Given the description of an element on the screen output the (x, y) to click on. 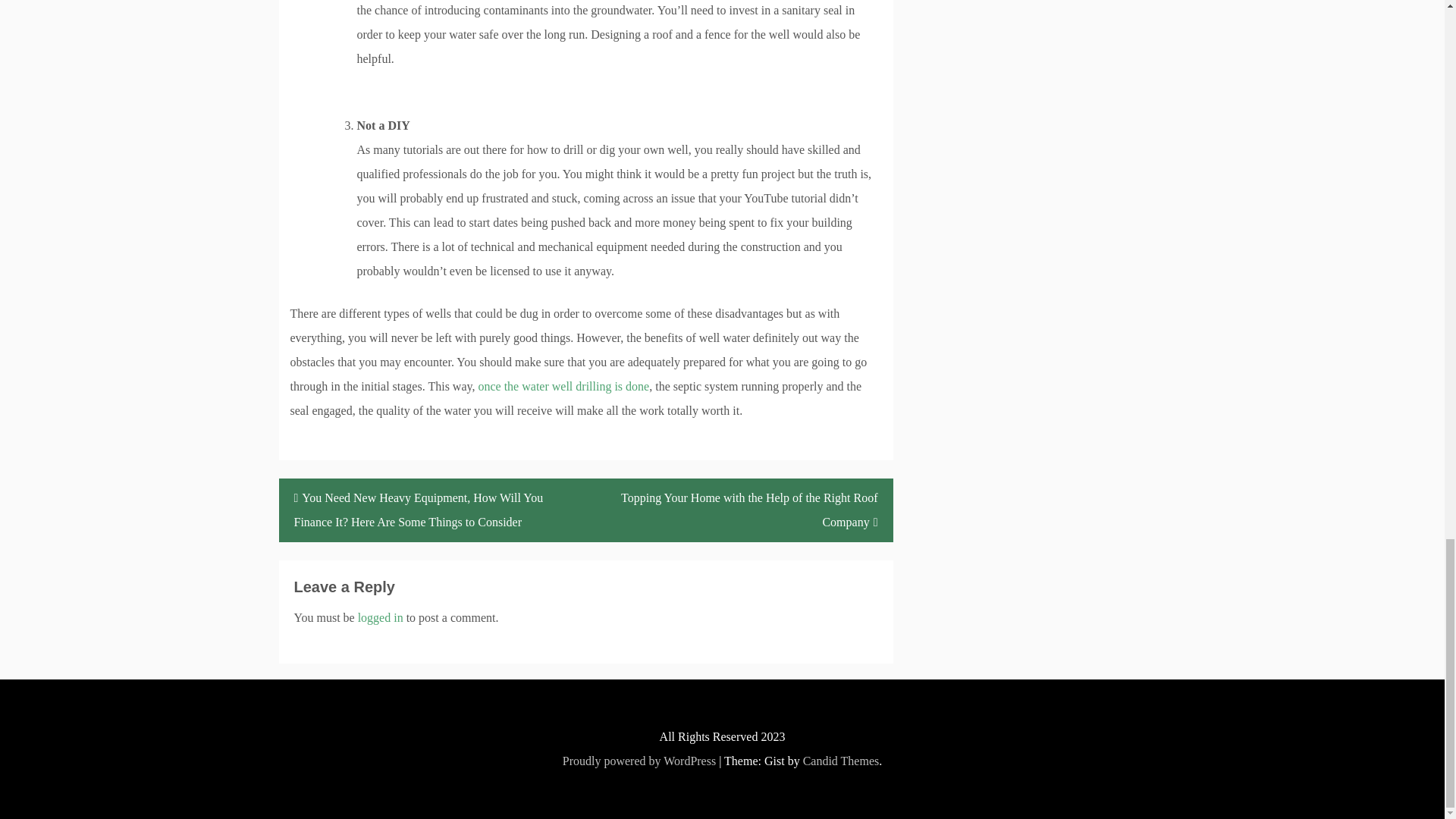
Proudly powered by WordPress (639, 760)
Topping Your Home with the Help of the Right Roof Company (738, 510)
logged in (380, 617)
Well contractors santa barbara (563, 386)
once the water well drilling is done (563, 386)
Candid Themes (841, 760)
